Given the description of an element on the screen output the (x, y) to click on. 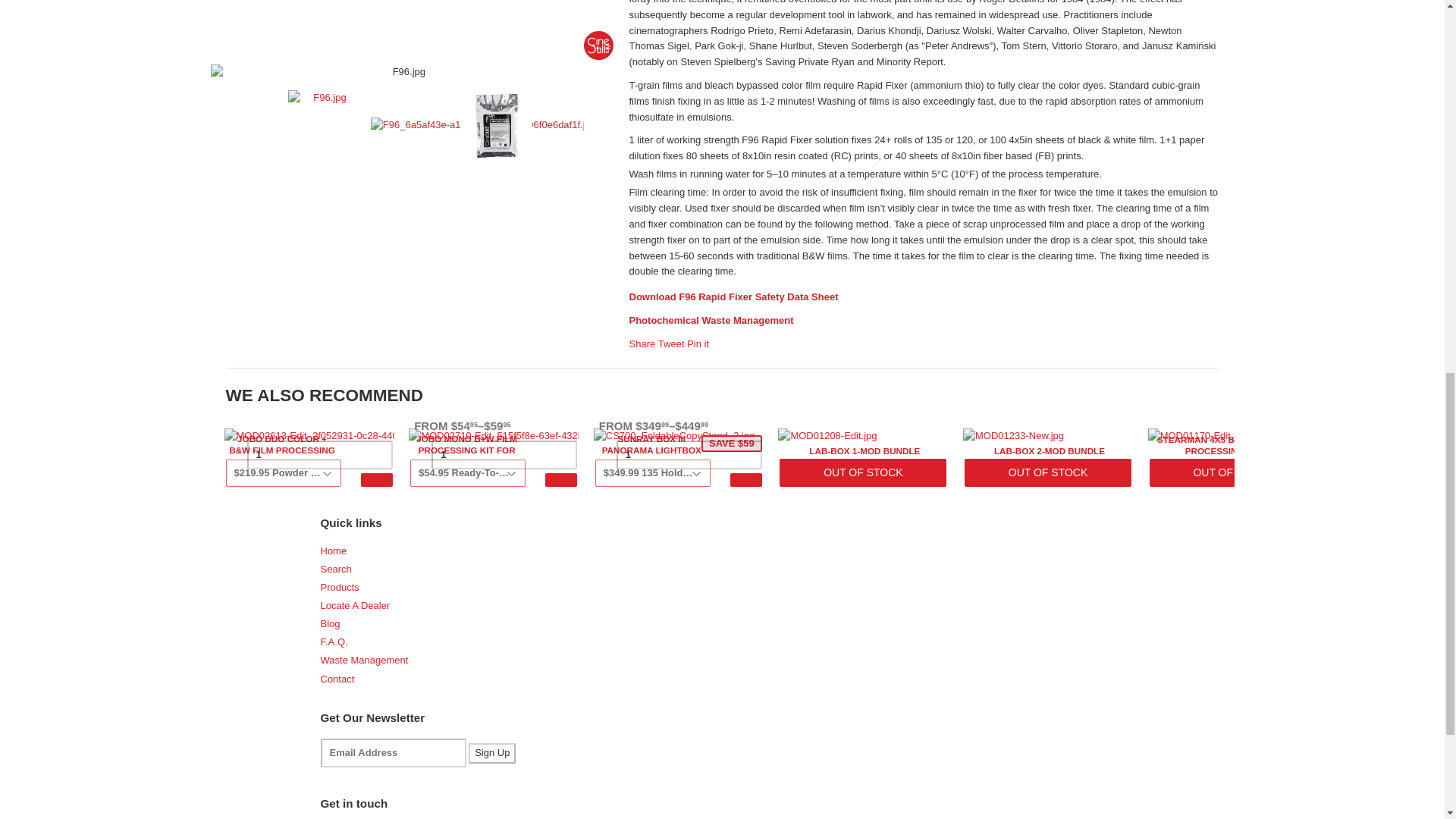
1 (320, 454)
1 (688, 454)
1 (503, 454)
